Given the description of an element on the screen output the (x, y) to click on. 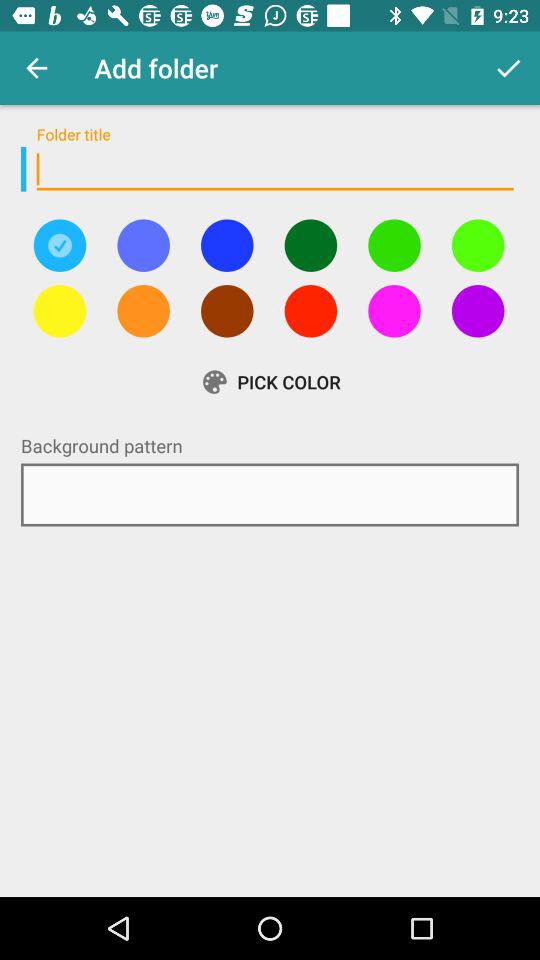
switch folder color orange (143, 311)
